Given the description of an element on the screen output the (x, y) to click on. 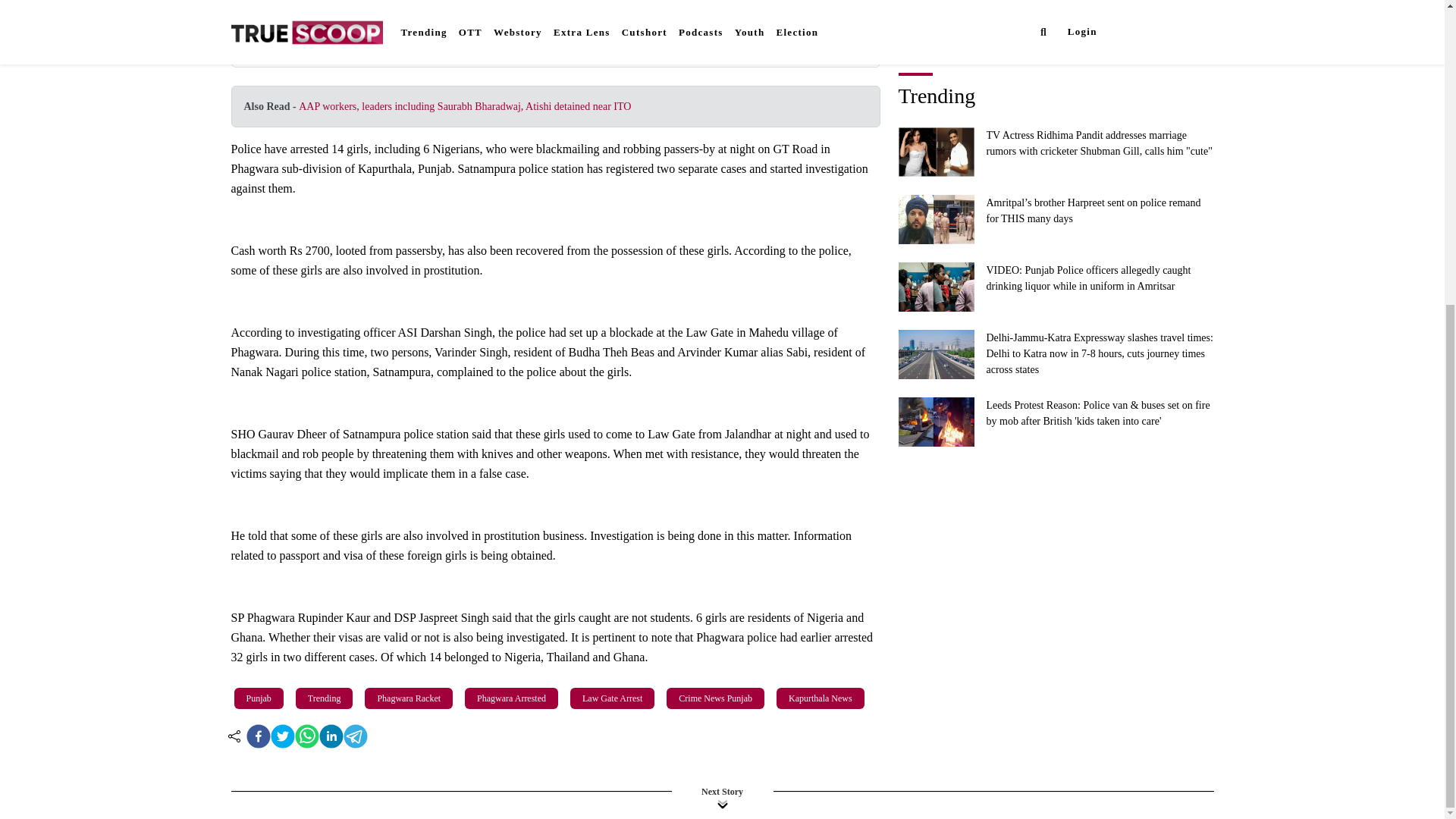
Phagwara Arrested (510, 698)
Kapurthala News (820, 697)
Law Gate Arrest (612, 697)
Trending (324, 698)
Phagwara Racket (408, 698)
Crime News Punjab (715, 698)
Trending (324, 697)
Punjab (257, 697)
Law Gate Arrest (611, 698)
Crime News Punjab (715, 697)
Punjab (257, 698)
Phagwara Racket (408, 697)
Phagwara Arrested (510, 697)
